Given the description of an element on the screen output the (x, y) to click on. 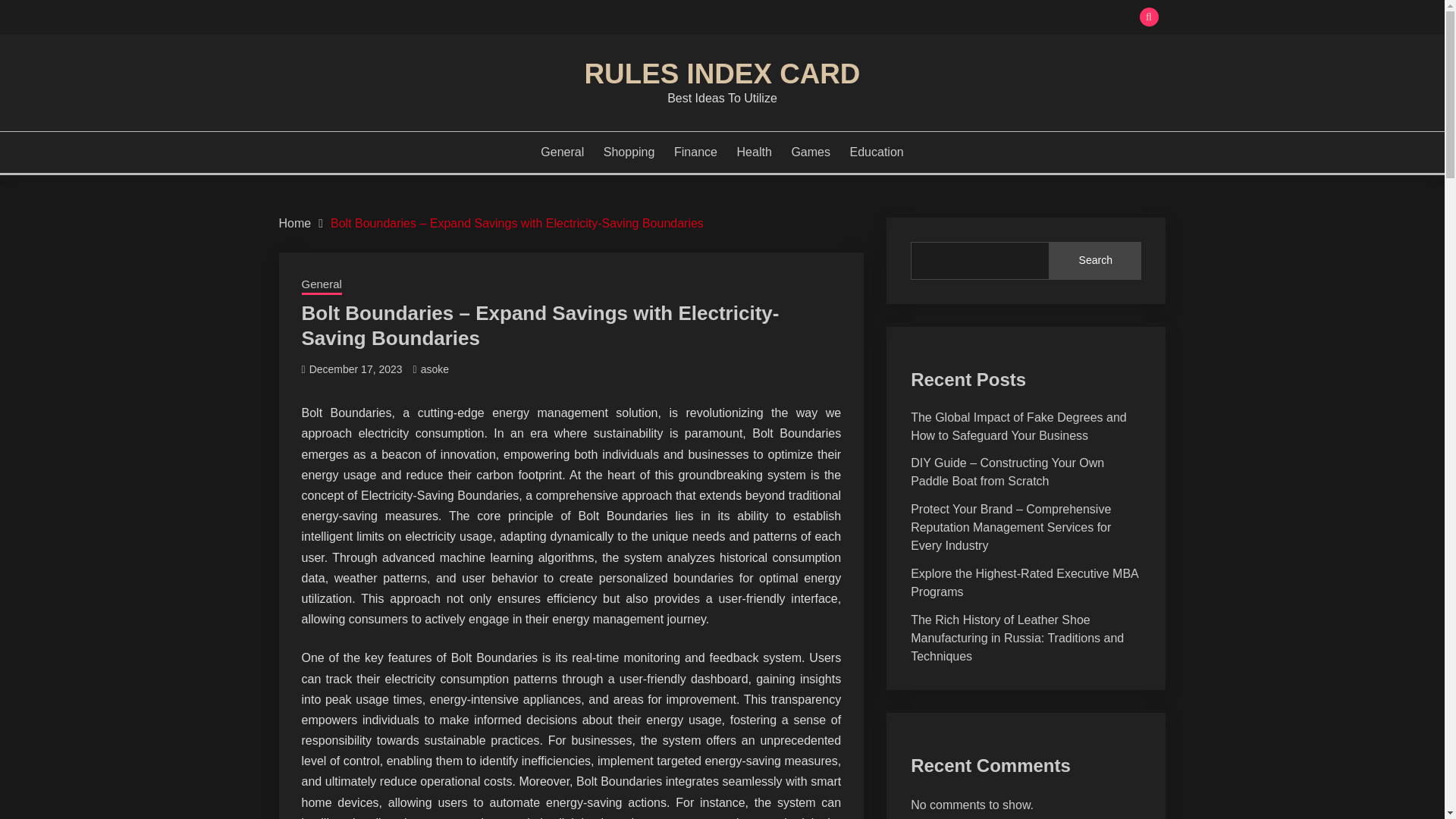
Search (832, 18)
Finance (695, 152)
Search (1095, 260)
asoke (434, 369)
Games (809, 152)
Education (877, 152)
General (561, 152)
December 17, 2023 (355, 369)
Home (295, 223)
Shopping (629, 152)
RULES INDEX CARD (722, 73)
Explore the Highest-Rated Executive MBA Programs (1024, 582)
Health (753, 152)
